Given the description of an element on the screen output the (x, y) to click on. 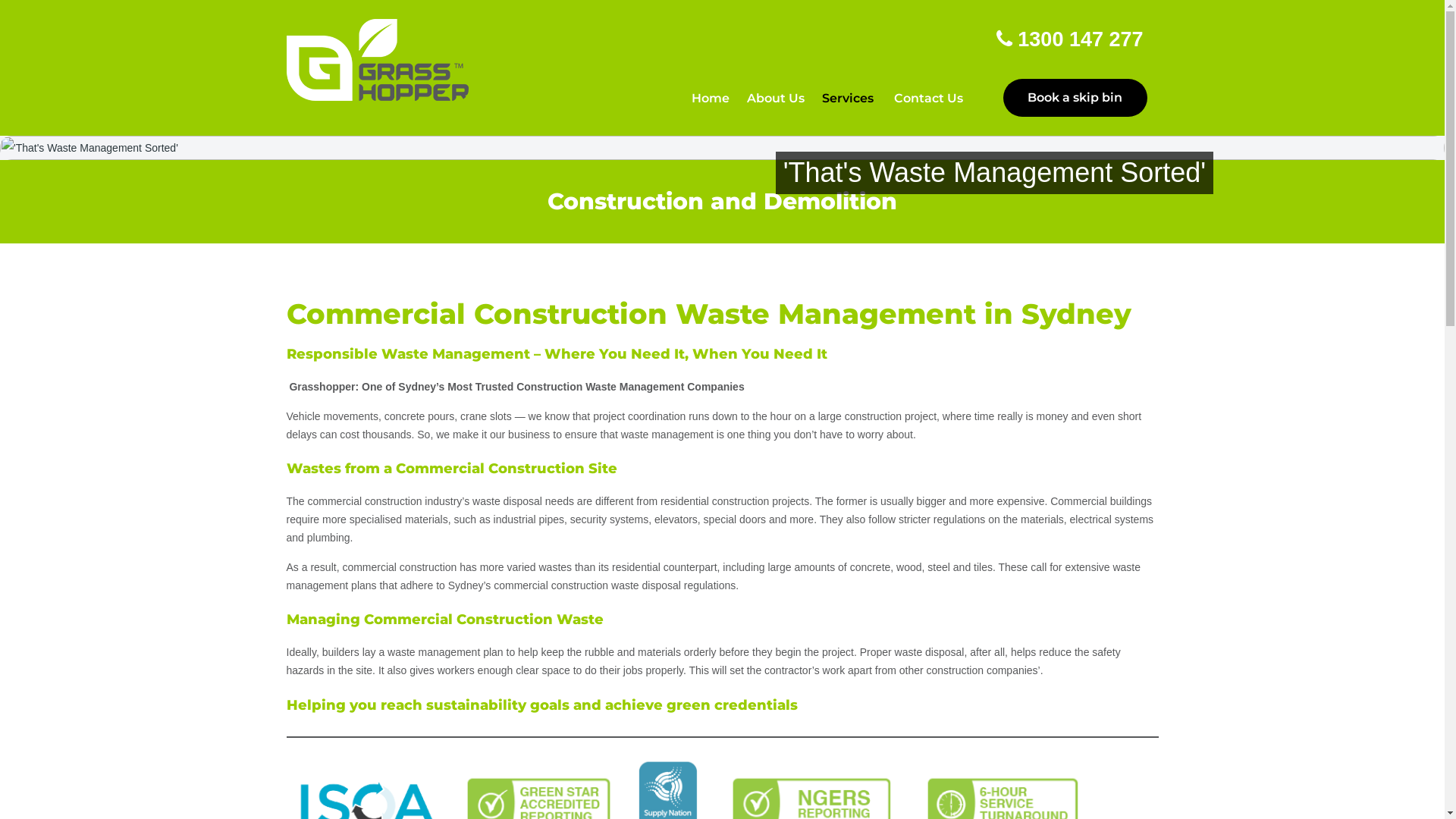
Contact Us Element type: text (930, 97)
Book a skip bin Element type: text (1074, 97)
1300 147 277 Element type: text (1069, 39)
Home Element type: text (713, 97)
About Us Element type: text (778, 97)
